Given the description of an element on the screen output the (x, y) to click on. 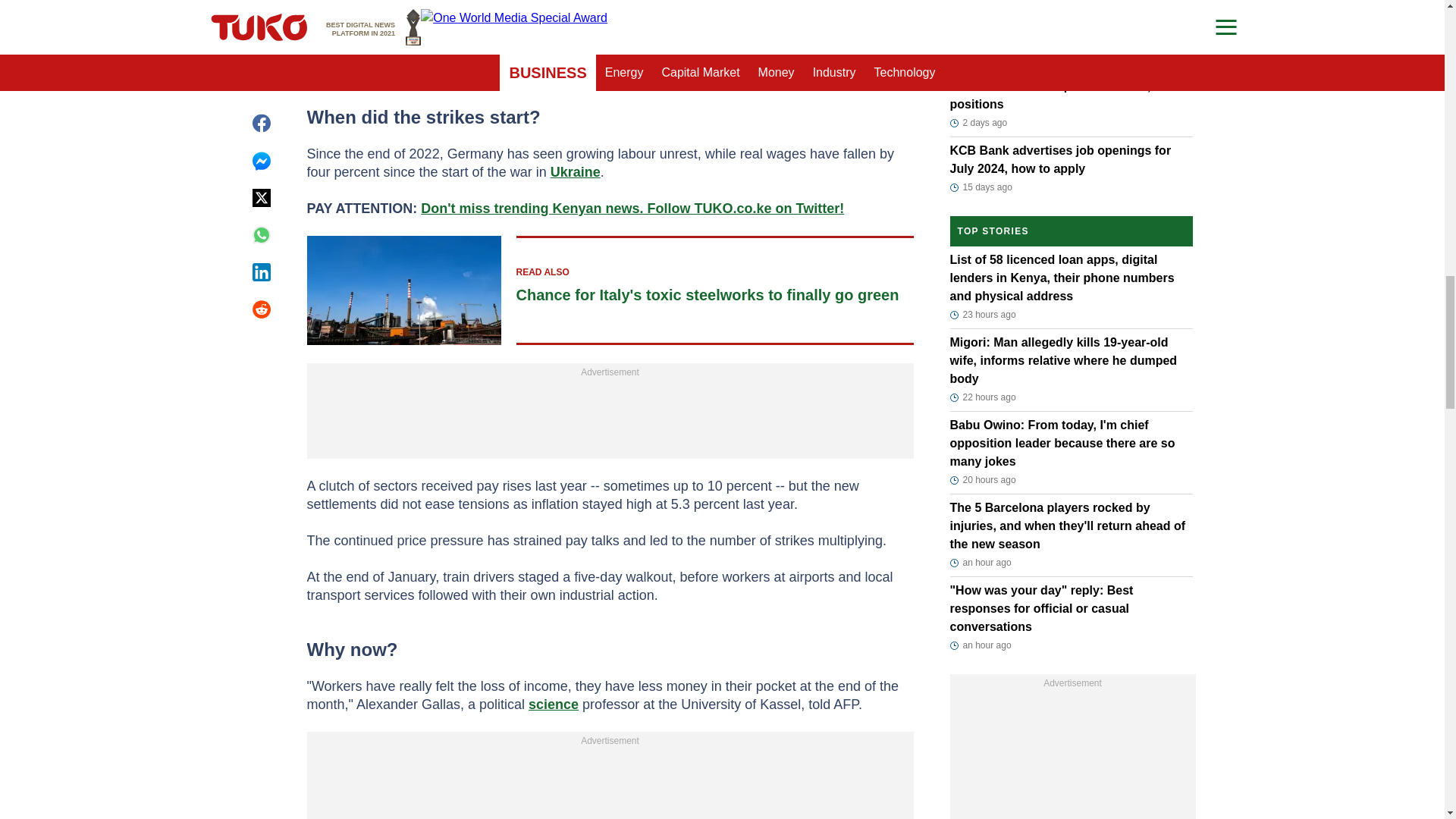
3rd party ad content (609, 13)
